Given the description of an element on the screen output the (x, y) to click on. 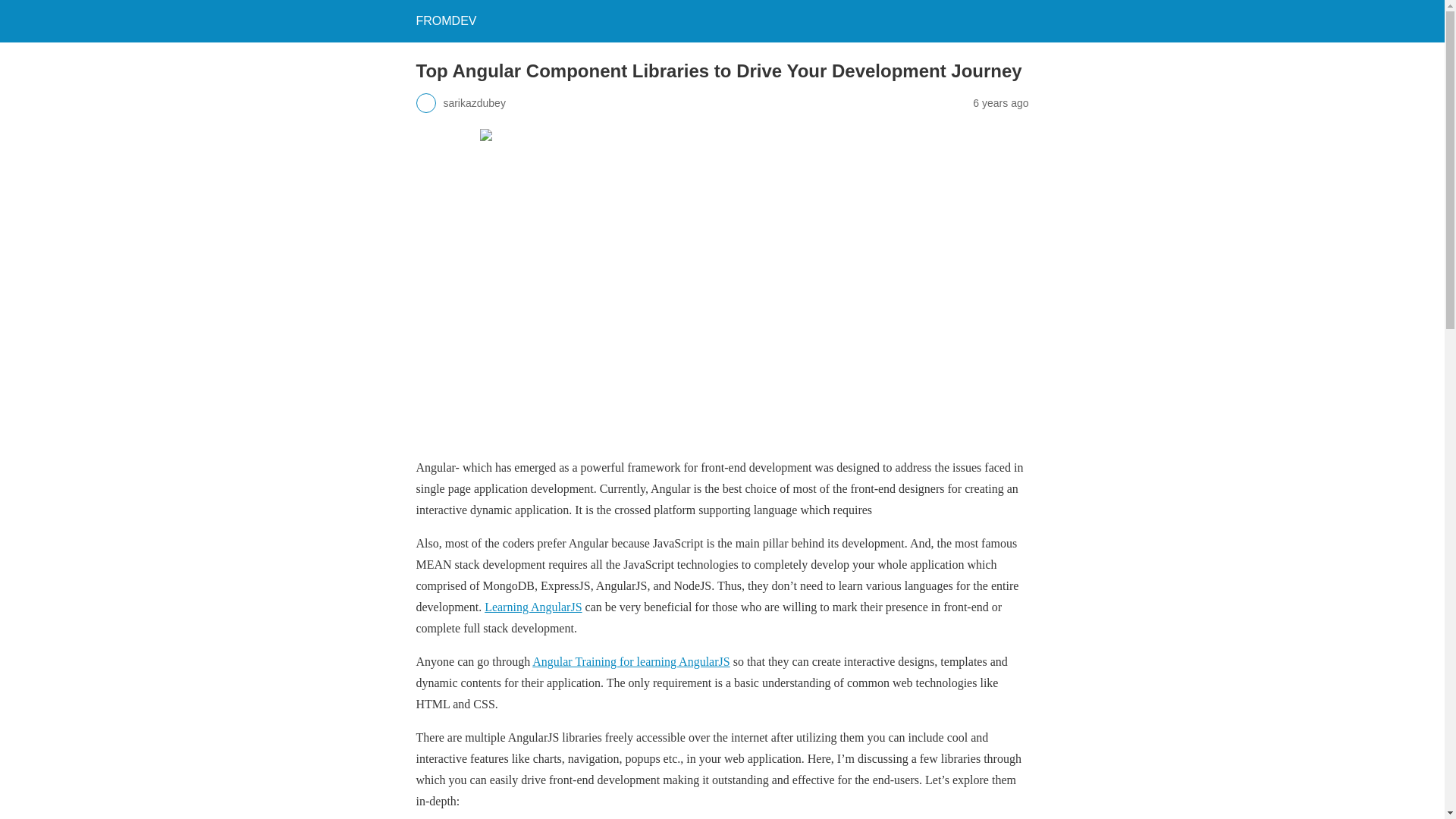
FROMDEV (445, 20)
Learning AngularJS (532, 606)
Angular Training for learning AngularJS (630, 661)
